Given the description of an element on the screen output the (x, y) to click on. 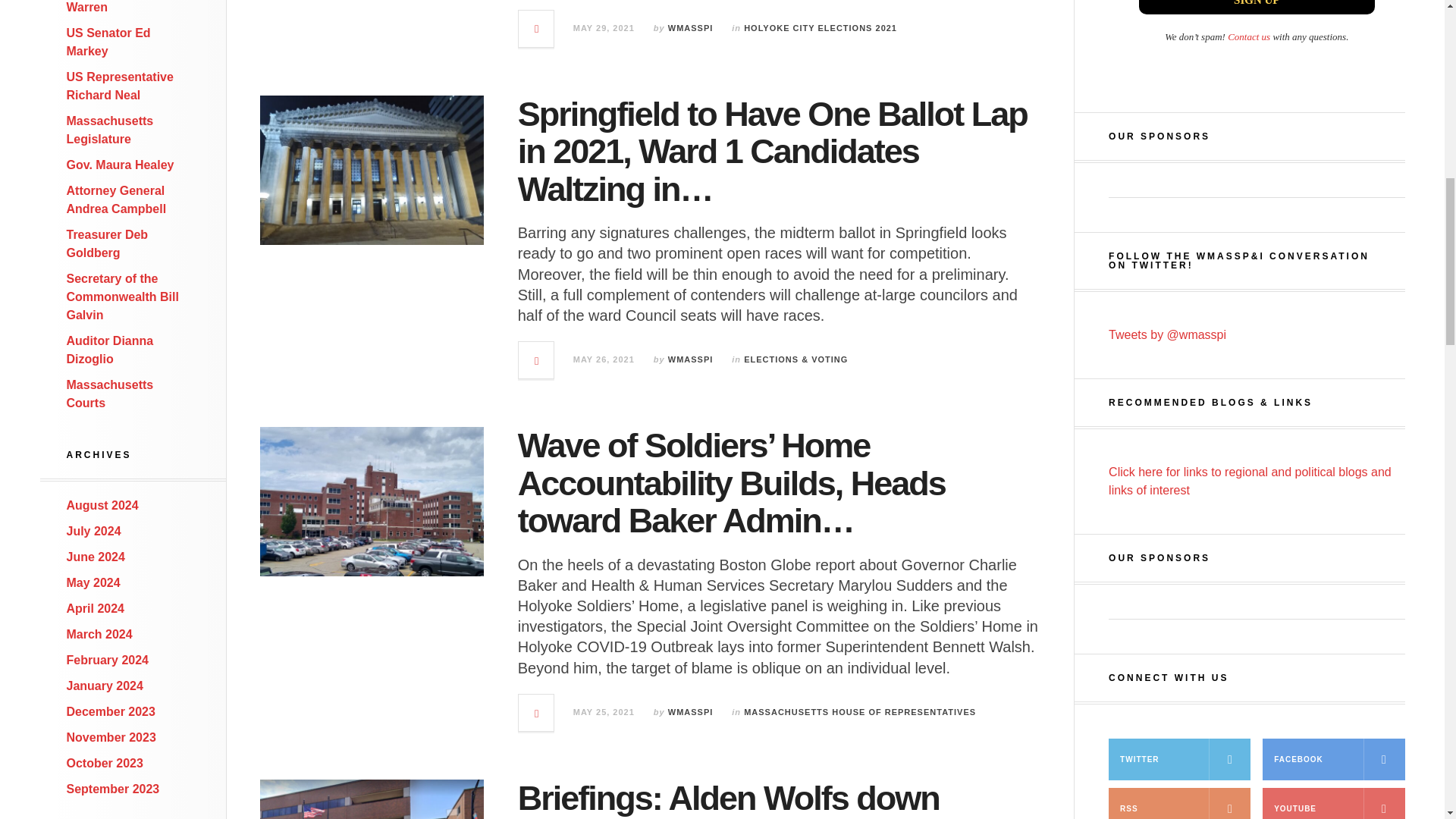
US Senator Ed Markey (108, 41)
Read More... (536, 28)
August 2024 (102, 504)
US Senator Elizabeth Warren (127, 6)
View all posts in Holyoke City Elections 2021 (820, 27)
Massachusetts Courts (110, 393)
Auditor Dianna Dizoglio (110, 349)
July 2024 (93, 530)
Treasurer Deb Goldberg (107, 243)
Gov. Maura Healey (120, 164)
